Given the description of an element on the screen output the (x, y) to click on. 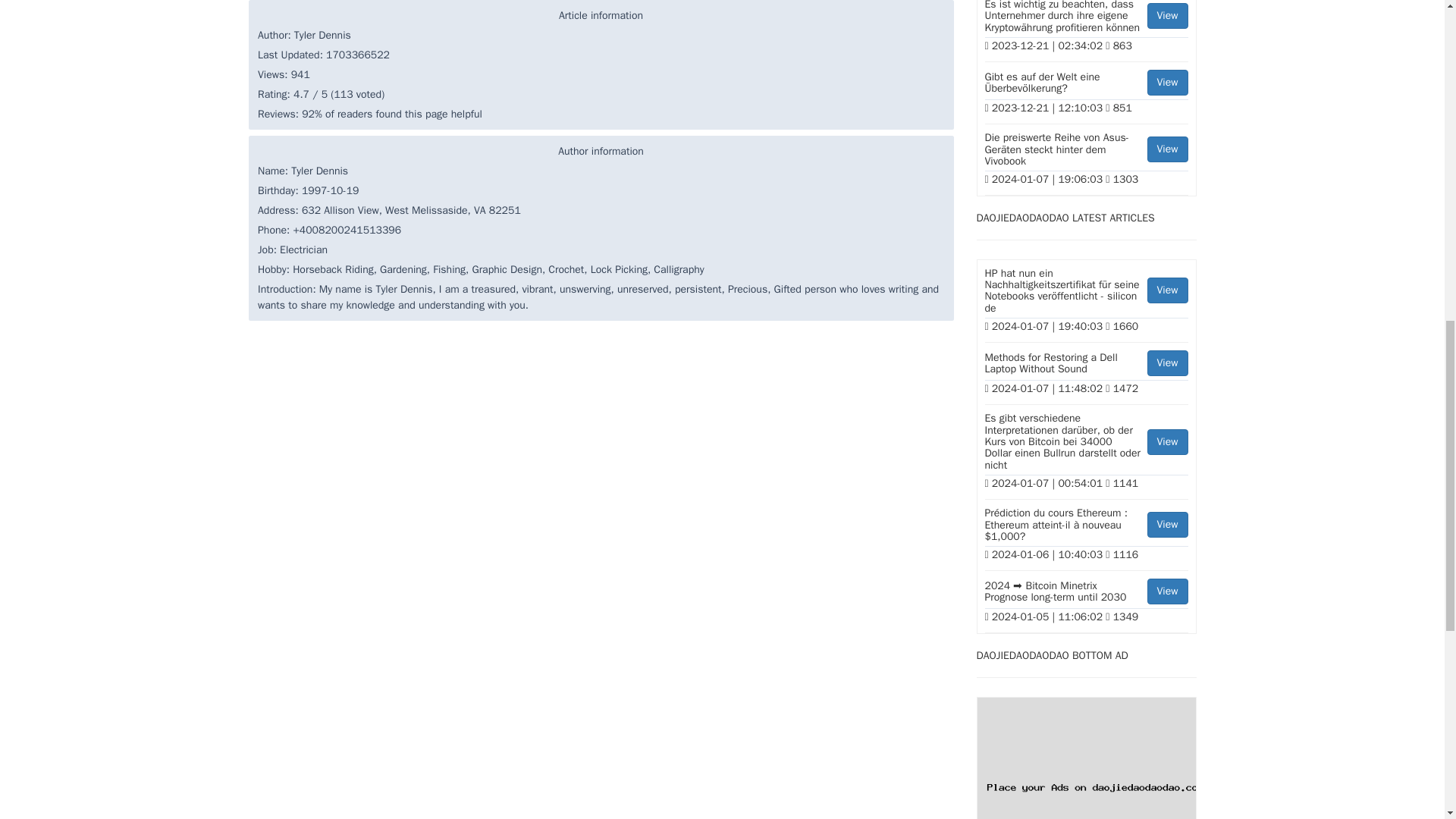
View (1167, 362)
View (1167, 290)
View (1167, 15)
View (1167, 149)
View (1167, 442)
Methods for Restoring a Dell Laptop Without Sound (1086, 365)
View (1167, 82)
View (1086, 365)
View (1167, 591)
